Given the description of an element on the screen output the (x, y) to click on. 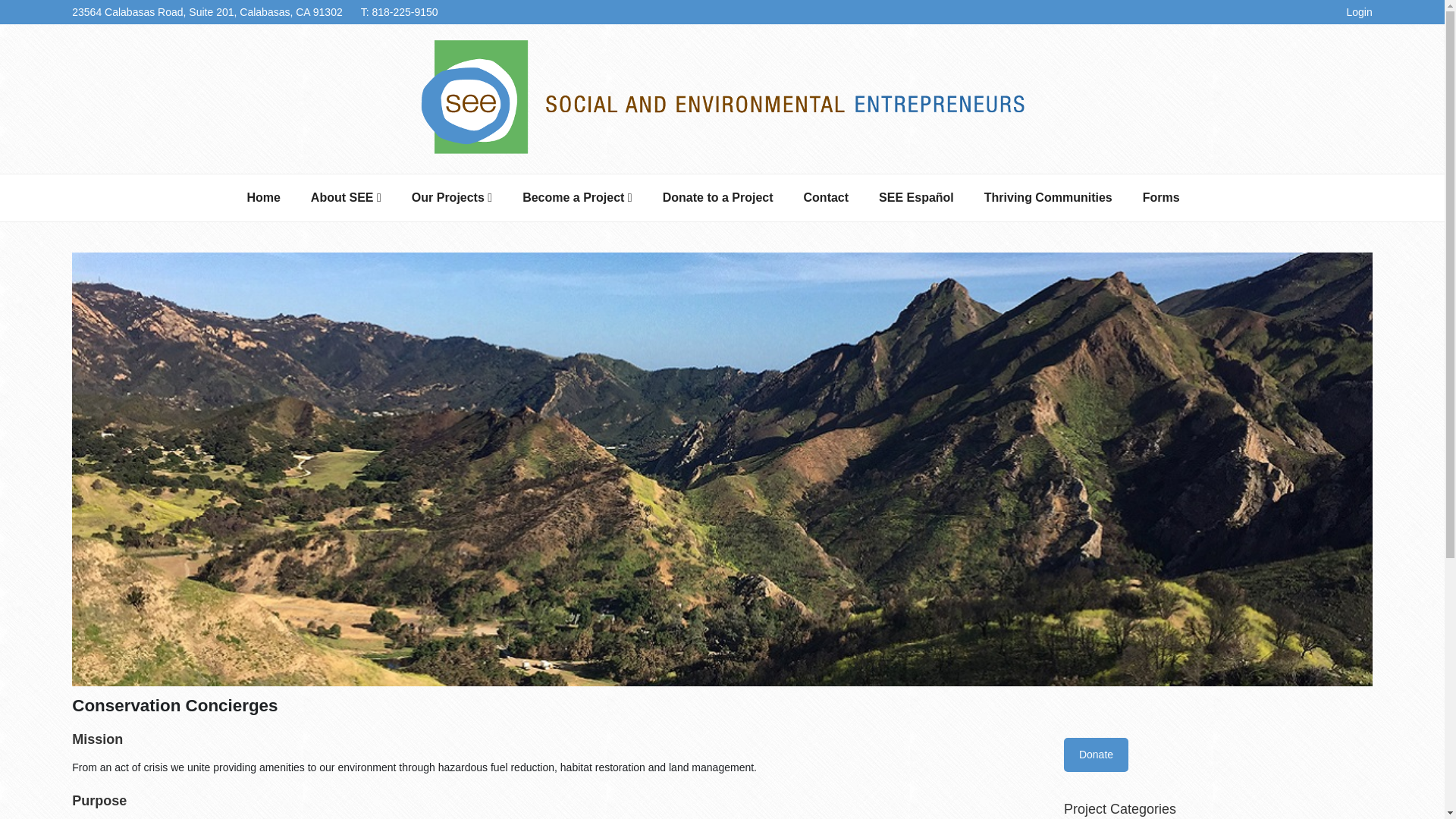
Contact (826, 197)
Login (1358, 12)
Donate (1096, 754)
Our Projects (451, 197)
Forms (1160, 197)
Become a Project (576, 197)
Thriving Communities (1047, 197)
About SEE (345, 197)
Home (263, 197)
Donate to a Project (718, 197)
